Given the description of an element on the screen output the (x, y) to click on. 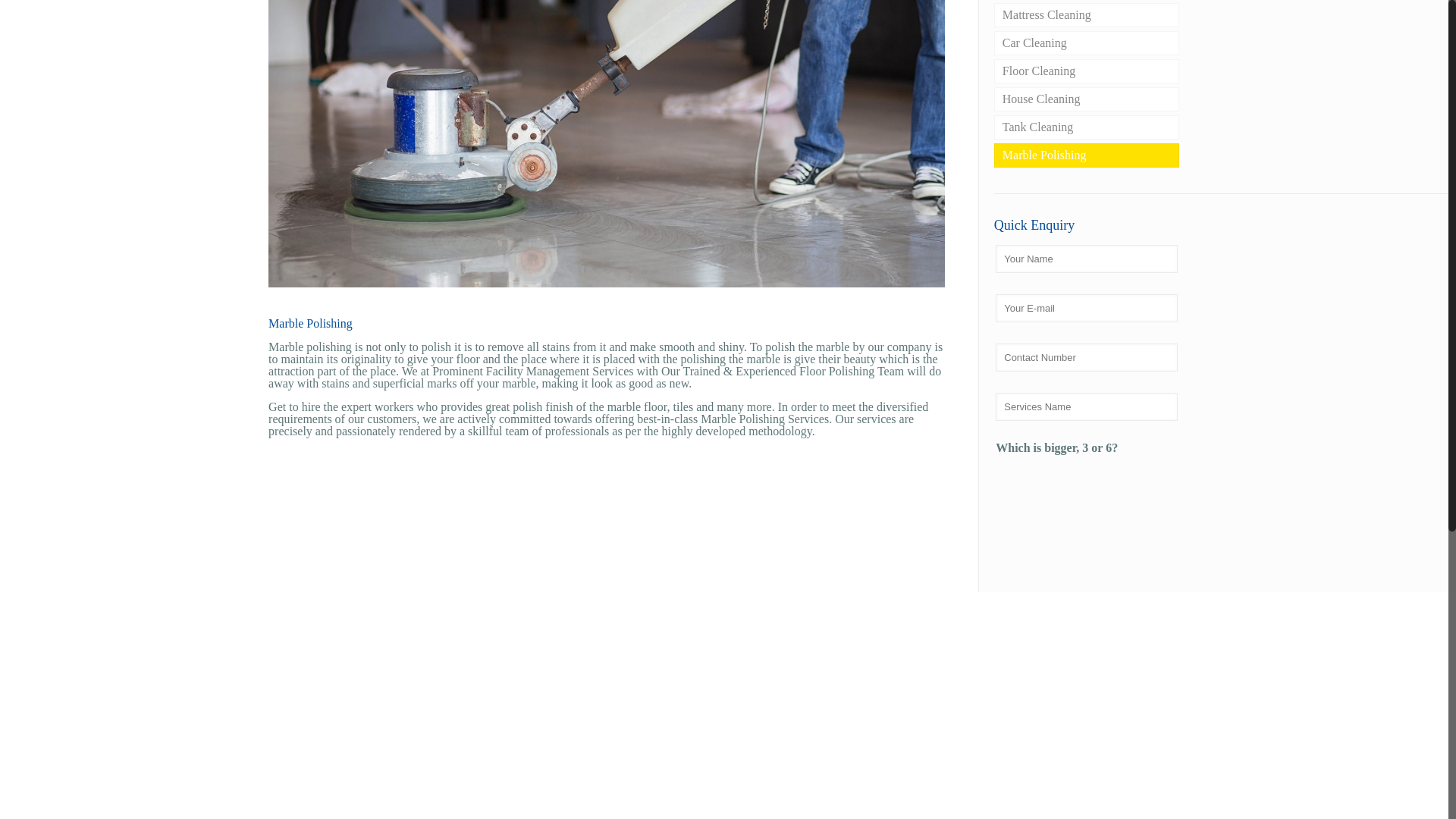
Mattress Cleaning (1086, 15)
Tank Cleaning (1086, 127)
Car Cleaning (1086, 43)
House Cleaning (1086, 98)
Floor Cleaning (1086, 70)
Send (1022, 521)
Marble Polishing (1086, 155)
